Given the description of an element on the screen output the (x, y) to click on. 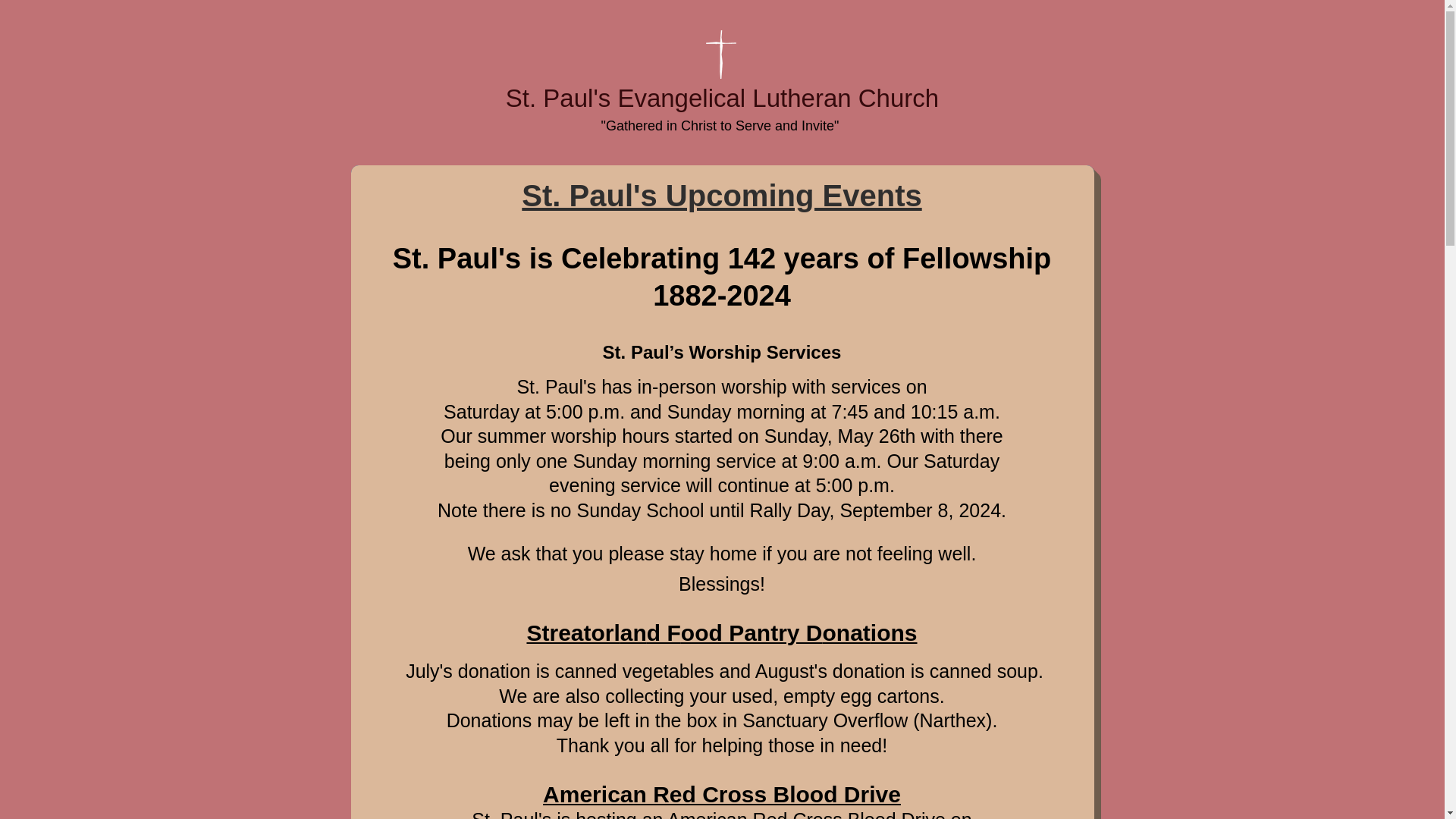
St. Paul's Evangelical Lutheran Church (722, 98)
